Given the description of an element on the screen output the (x, y) to click on. 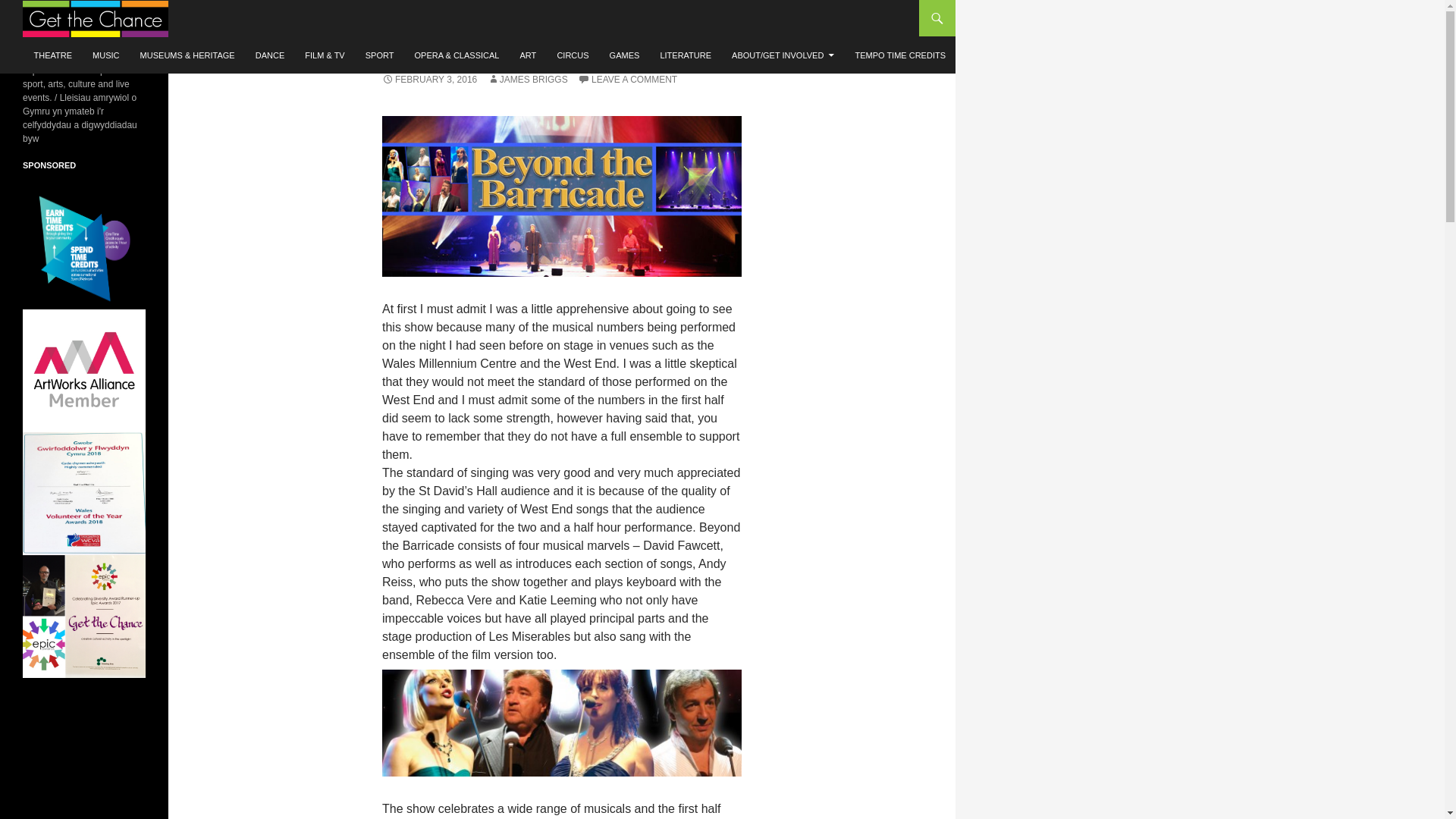
TEMPO TIME CREDITS (900, 54)
FEBRUARY 3, 2016 (429, 79)
GAMES (624, 54)
SPORT (379, 54)
LITERATURE (685, 54)
JAMES BRIGGS (527, 79)
LEAVE A COMMENT (627, 79)
DANCE (270, 54)
MUSIC (105, 54)
